Given the description of an element on the screen output the (x, y) to click on. 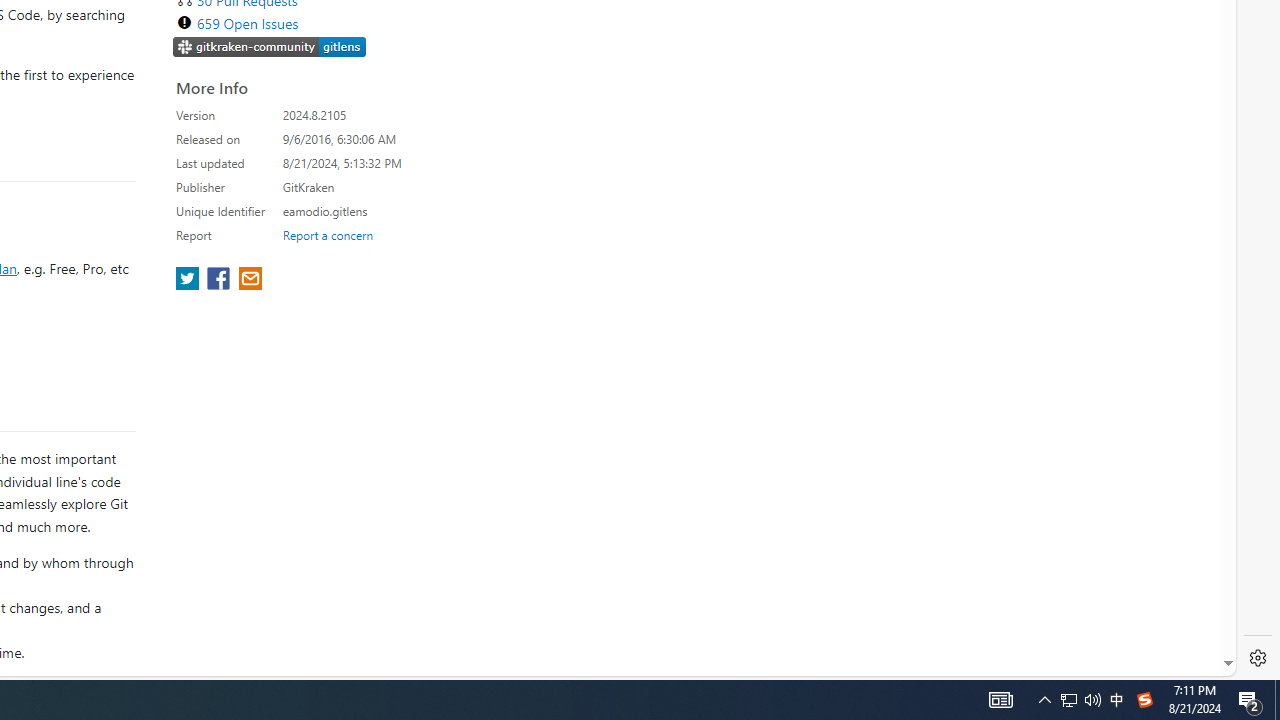
Report a concern (327, 234)
https://slack.gitkraken.com// (269, 48)
share extension on facebook (220, 280)
https://slack.gitkraken.com// (269, 46)
share extension on email (249, 280)
share extension on twitter (190, 280)
